Given the description of an element on the screen output the (x, y) to click on. 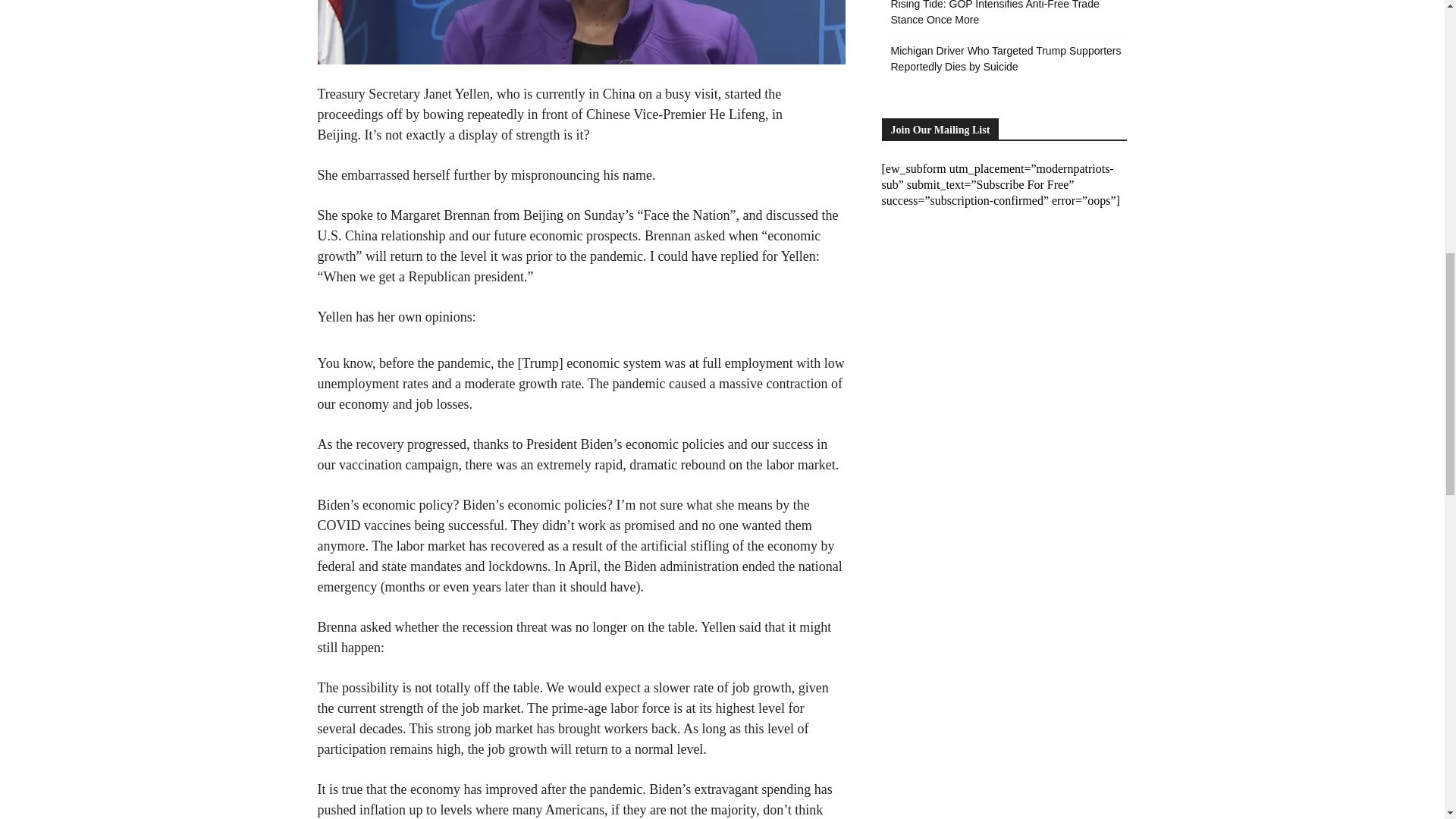
0710yellen (580, 32)
